Given the description of an element on the screen output the (x, y) to click on. 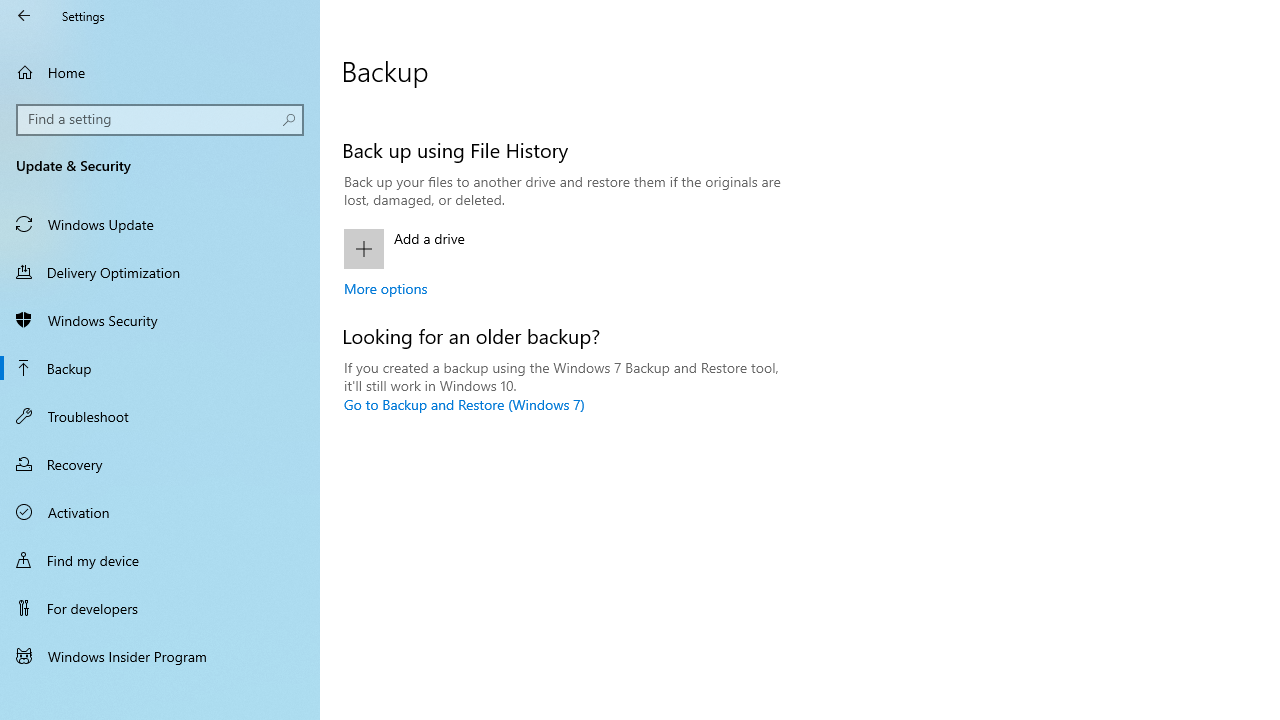
Go to Backup and Restore (Windows 7) (464, 404)
Recovery (160, 463)
Add a drive (563, 248)
Activation (160, 511)
Troubleshoot (160, 415)
Delivery Optimization (160, 271)
Backup (160, 367)
More options (385, 288)
Windows Security (160, 319)
Windows Update (160, 223)
For developers (160, 607)
Find my device (160, 559)
Windows Insider Program (160, 655)
